Given the description of an element on the screen output the (x, y) to click on. 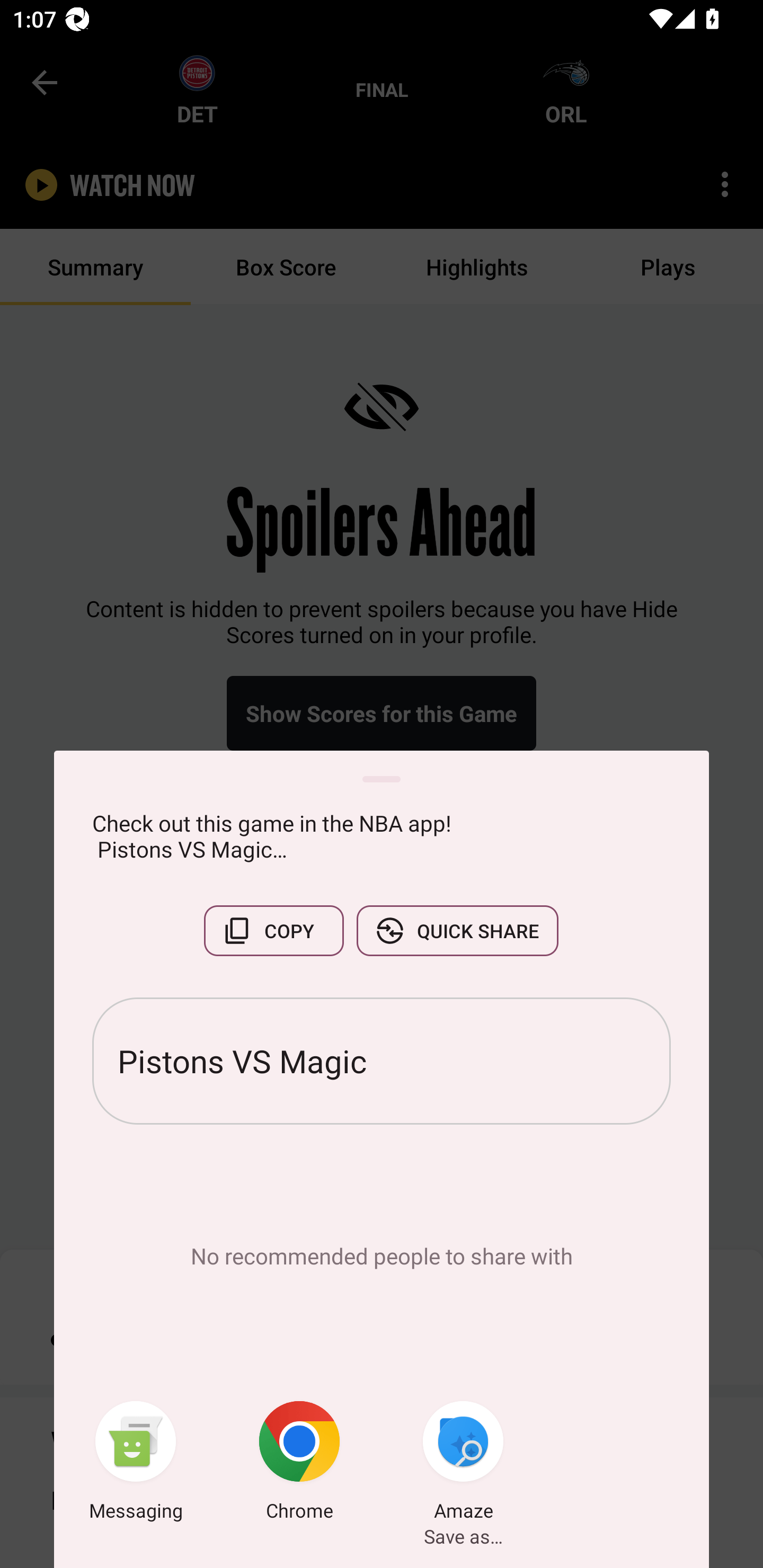
COPY (273, 930)
QUICK SHARE (457, 930)
Messaging (135, 1463)
Chrome (299, 1463)
Amaze Save as… (463, 1463)
